Given the description of an element on the screen output the (x, y) to click on. 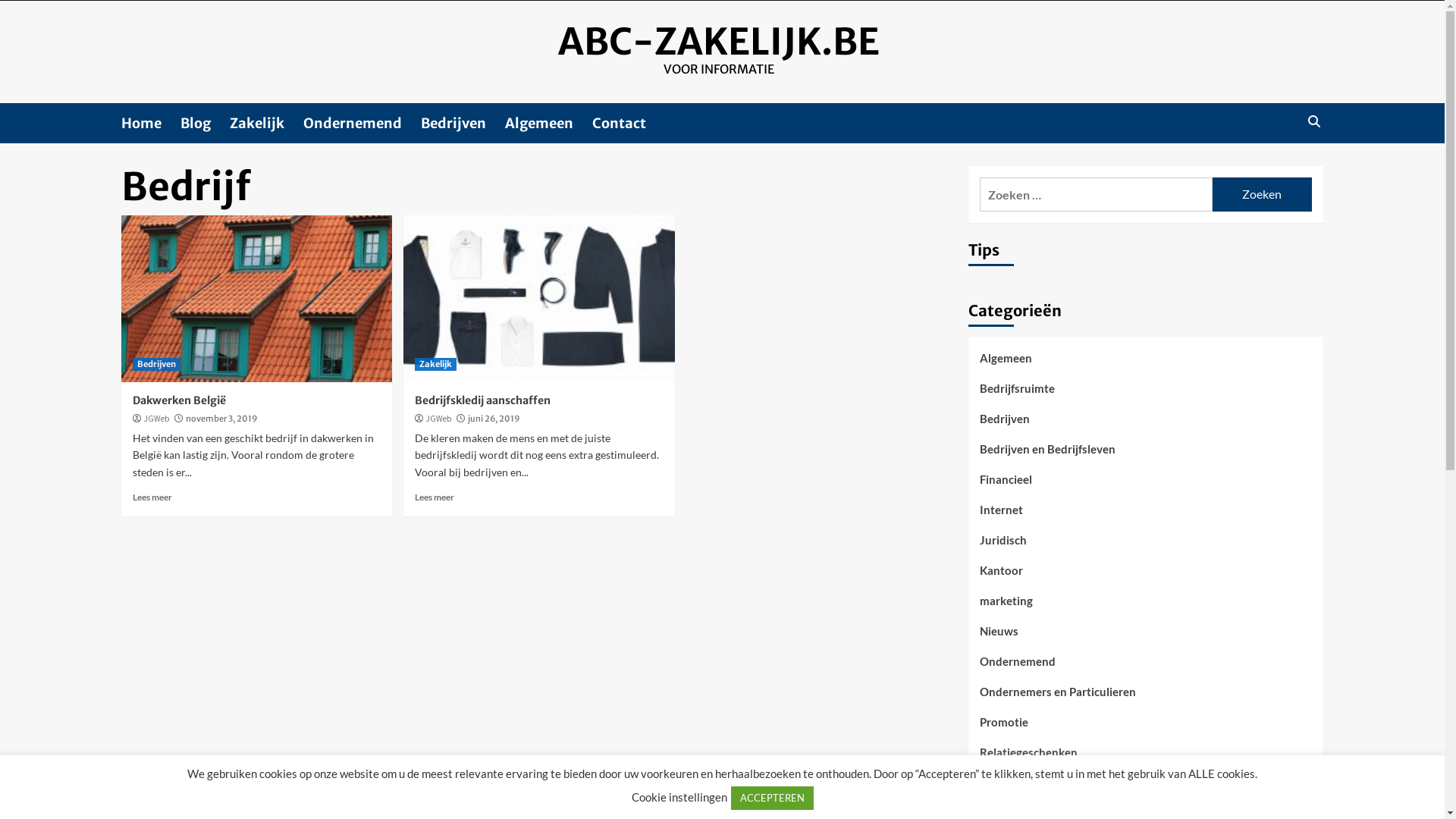
Blog Element type: text (204, 123)
Financieel Element type: text (1005, 484)
Zakelijk Element type: text (435, 363)
Internet Element type: text (1000, 515)
Promotie Element type: text (1003, 727)
Zoeken Element type: text (1261, 194)
Kantoor Element type: text (1000, 575)
Zakelijk Element type: text (266, 123)
Lees meer Element type: text (434, 496)
Bedrijfskledij aanschaffen Element type: text (482, 400)
Zoeken Element type: text (1278, 168)
Nieuws Element type: text (998, 636)
juni 26, 2019 Element type: text (493, 418)
Ondernemers en Particulieren Element type: text (1057, 697)
Home Element type: text (150, 123)
november 3, 2019 Element type: text (221, 418)
Ondernemend Element type: text (361, 123)
Algemeen Element type: text (1005, 363)
Lees meer Element type: text (152, 496)
Algemeen Element type: text (548, 123)
Bedrijven Element type: text (156, 363)
ACCEPTEREN Element type: text (772, 797)
Search Element type: hover (1313, 121)
Bedrijven en Bedrijfsleven Element type: text (1047, 454)
Bedrijven Element type: text (1004, 424)
Relatiegeschenken Element type: text (1028, 757)
Bedrijfsruimte Element type: text (1016, 393)
Ondernemend Element type: text (1017, 666)
Cookie instellingen Element type: text (678, 796)
JGWeb Element type: text (156, 418)
ABC-ZAKELIJK.BE Element type: text (718, 41)
Juridisch Element type: text (1002, 545)
marketing Element type: text (1005, 606)
Contact Element type: text (628, 123)
Bedrijven Element type: text (462, 123)
telefonie Element type: text (1002, 788)
JGWeb Element type: text (438, 418)
